Given the description of an element on the screen output the (x, y) to click on. 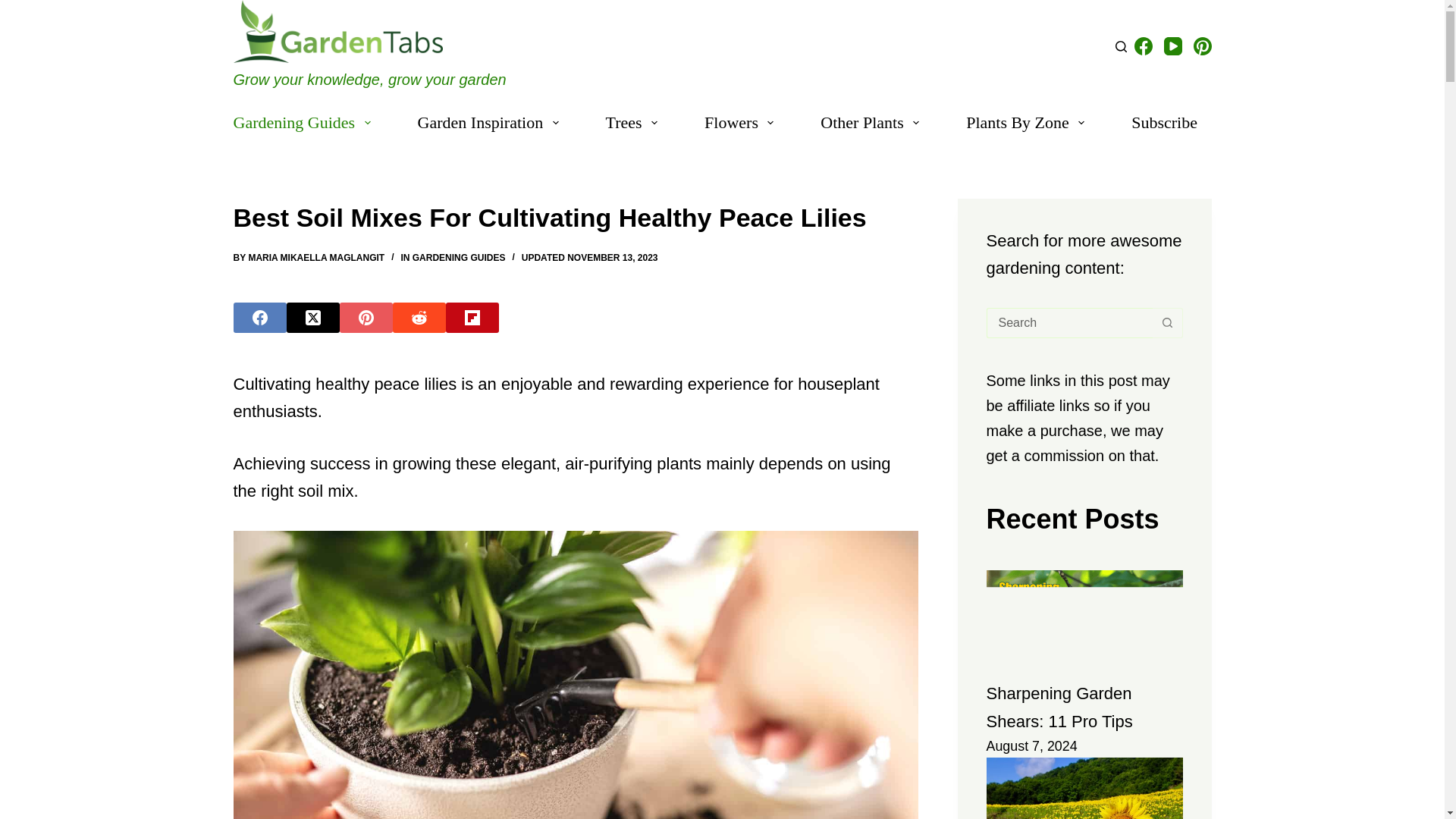
Best Soil Mixes for Cultivating Healthy Peace Lilies (575, 218)
Skip to content (15, 7)
Posts by Maria Mikaella Maglangit (315, 257)
Search for... (1068, 322)
